Given the description of an element on the screen output the (x, y) to click on. 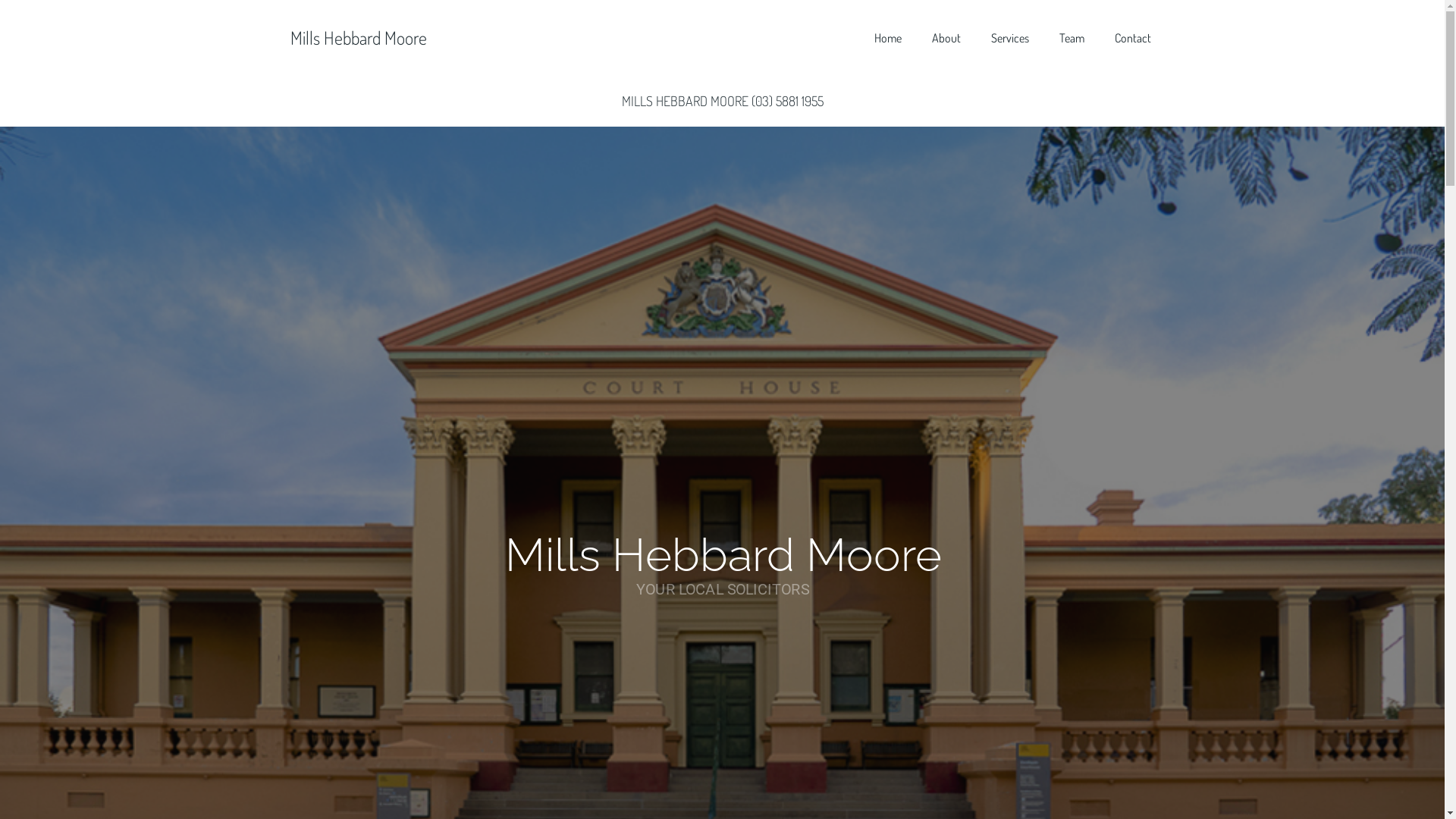
Home Element type: text (887, 37)
About Element type: text (945, 37)
Services Element type: text (1009, 37)
Mills Hebbard Moore Element type: text (357, 37)
Contact Element type: text (1132, 37)
Team Element type: text (1070, 37)
